Given the description of an element on the screen output the (x, y) to click on. 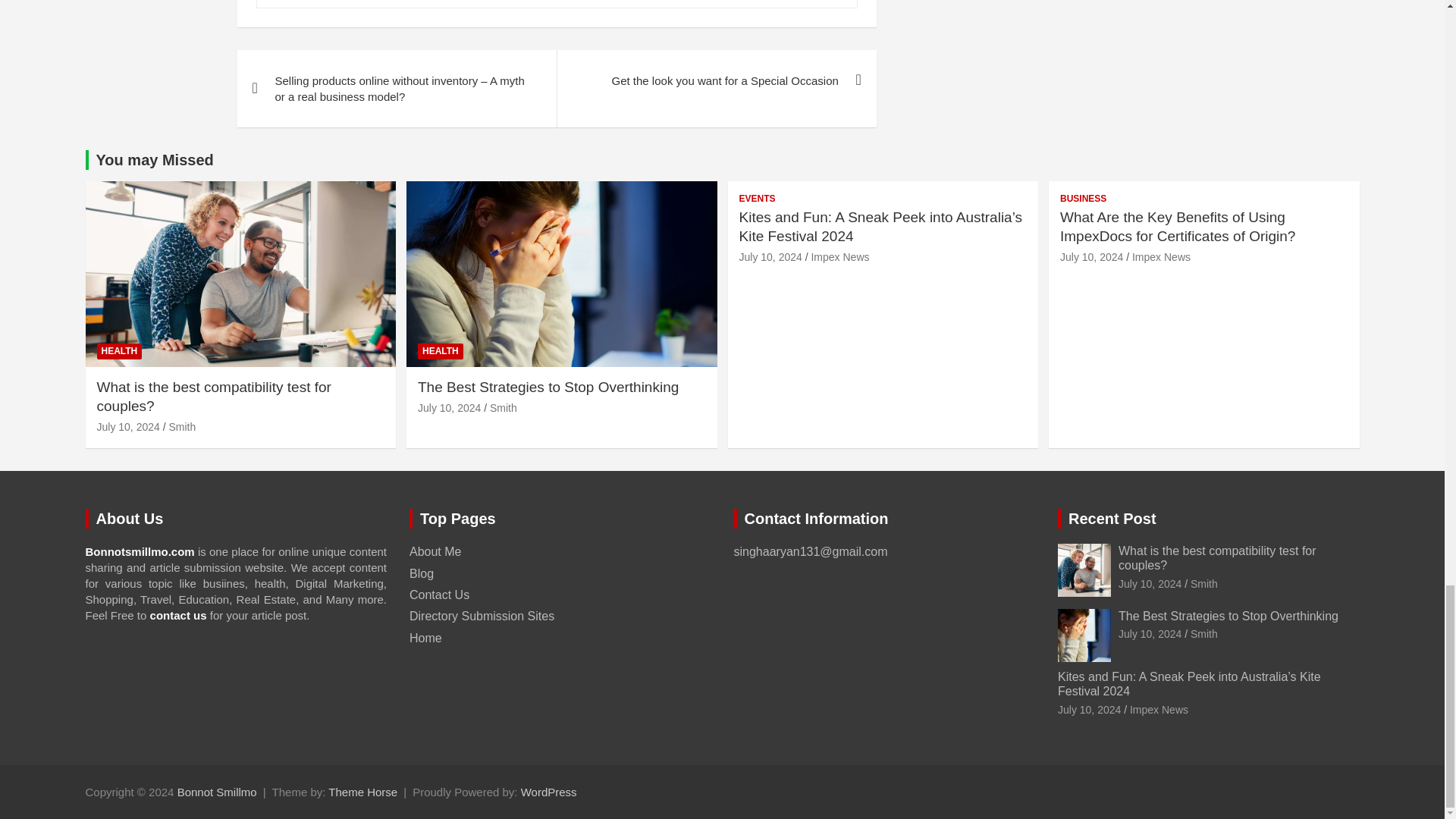
What is the best compatibility test for couples? (128, 426)
Theme Horse (363, 791)
The Best Strategies to Stop Overthinking (448, 408)
The Best Strategies to Stop Overthinking (1149, 633)
WordPress (548, 791)
What is the best compatibility test for couples? (1149, 583)
Bonnot Smillmo (217, 791)
